Given the description of an element on the screen output the (x, y) to click on. 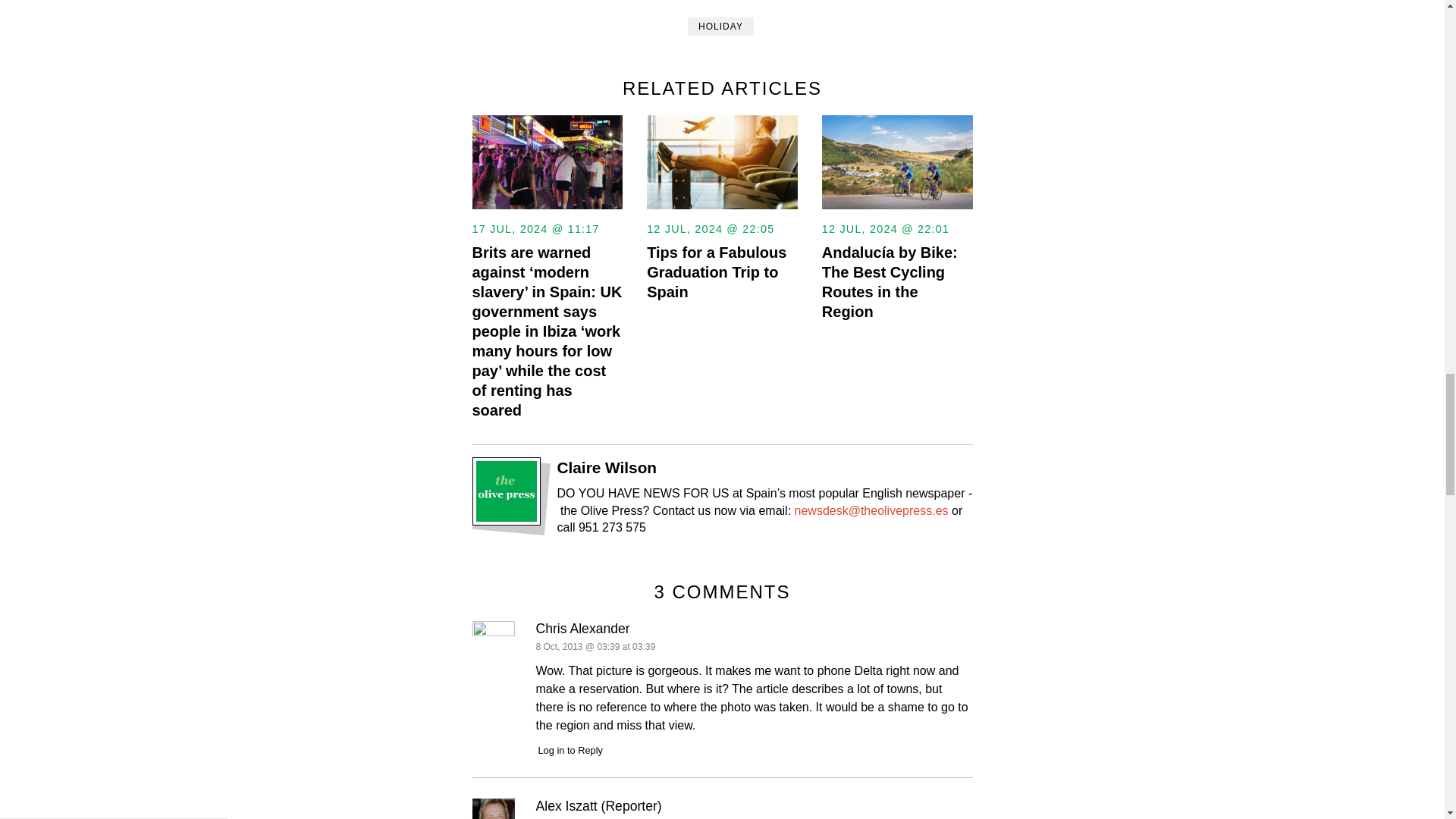
12 Jul, 2024 22:49:05 (710, 228)
17 Jul, 2024 11:25:17 (534, 228)
12 Jul, 2024 22:22:01 (885, 228)
